Given the description of an element on the screen output the (x, y) to click on. 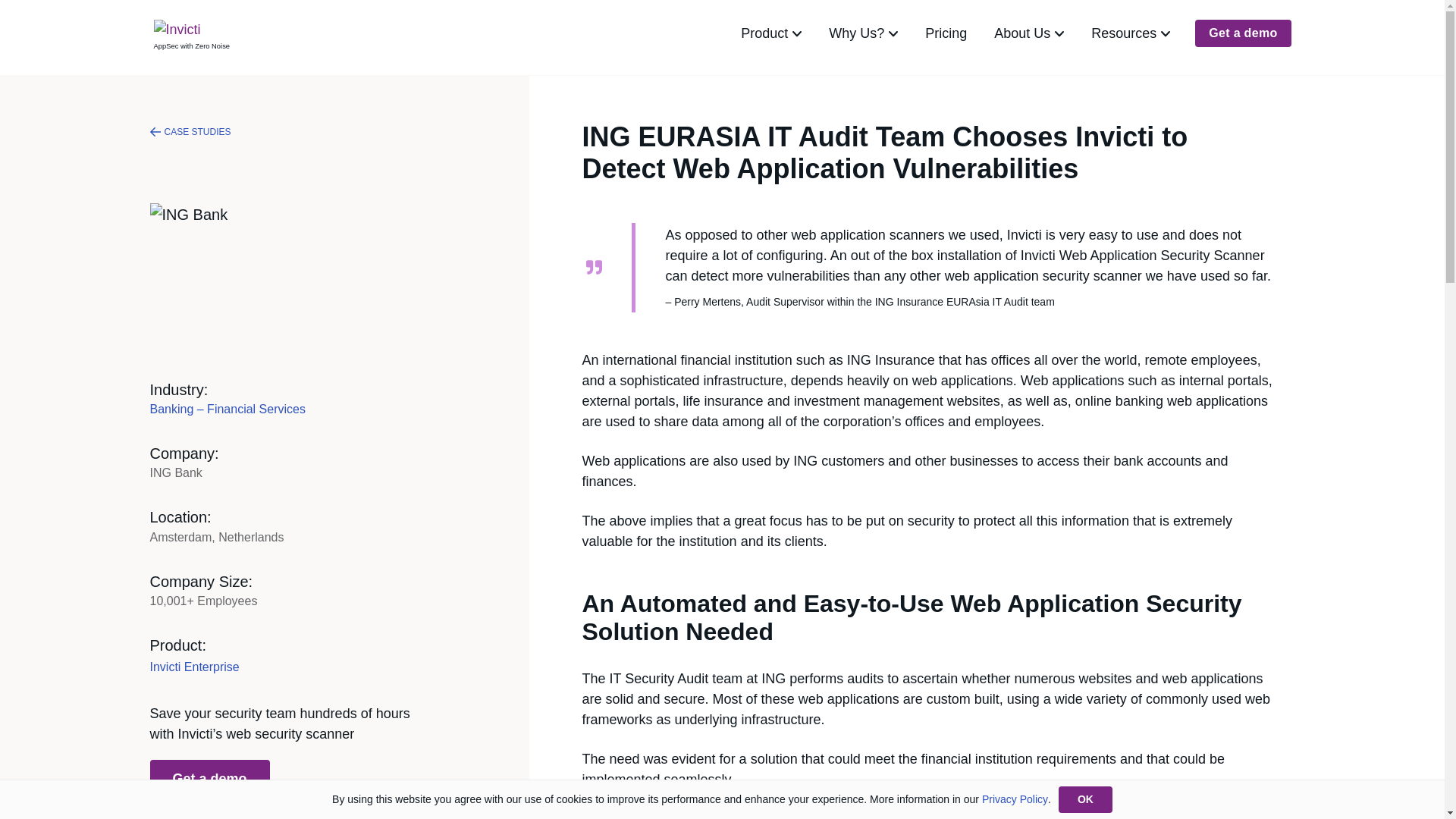
Resources (1130, 33)
Pricing (945, 33)
Get a demo (209, 779)
OK (1085, 799)
Product (770, 33)
About Us (1028, 33)
Get a demo (1242, 32)
Why Us? (863, 33)
AppSec with Zero Noise (190, 32)
